Given the description of an element on the screen output the (x, y) to click on. 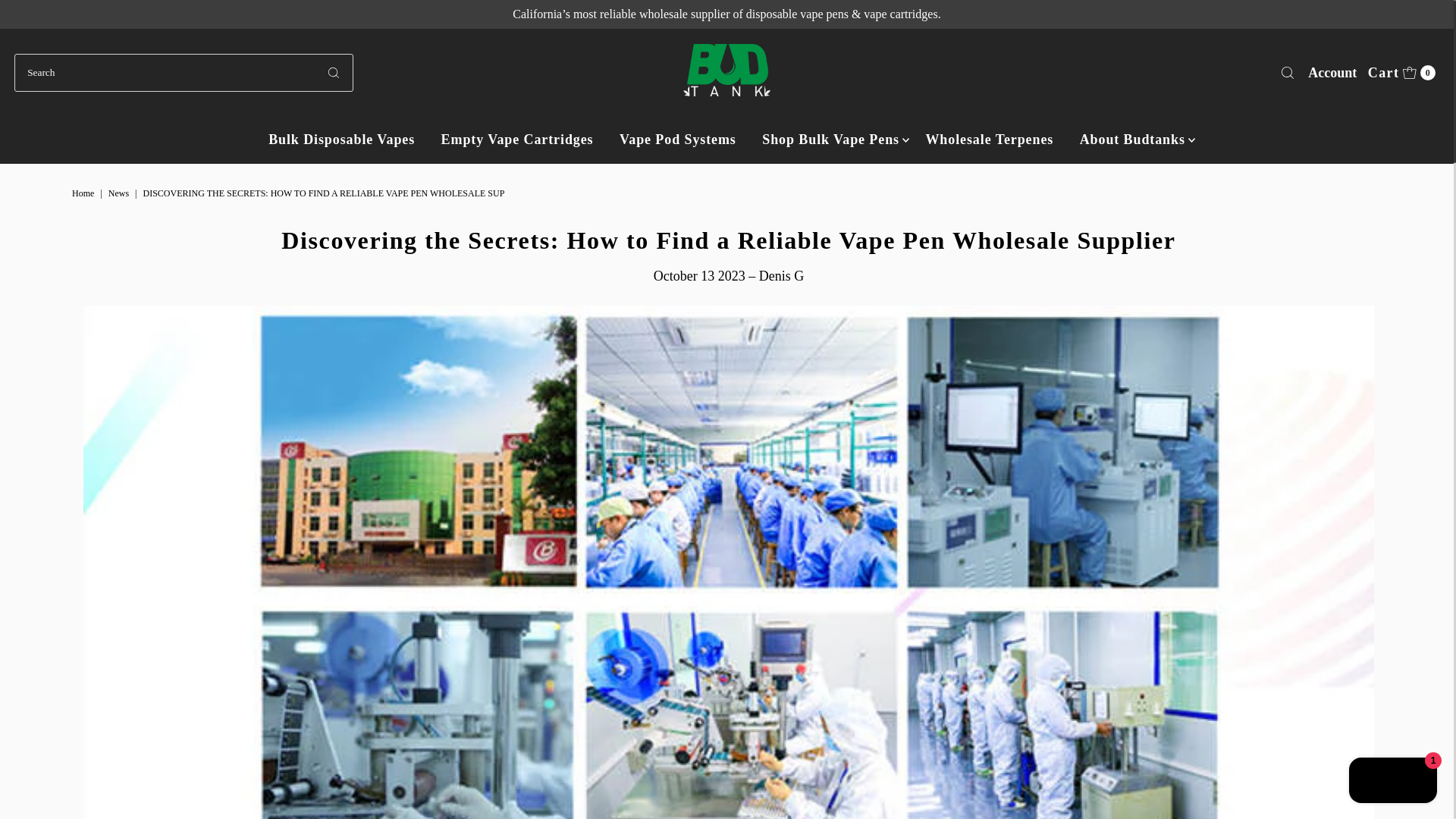
Home (84, 193)
Home (84, 193)
Vape Pod Systems (1401, 72)
Shop Bulk Vape Pens (678, 139)
Empty Vape Cartridges (831, 139)
News (517, 139)
About Budtanks (119, 193)
Wholesale Terpenes (1132, 139)
Bulk Disposable Vapes (989, 139)
Account (341, 139)
